Given the description of an element on the screen output the (x, y) to click on. 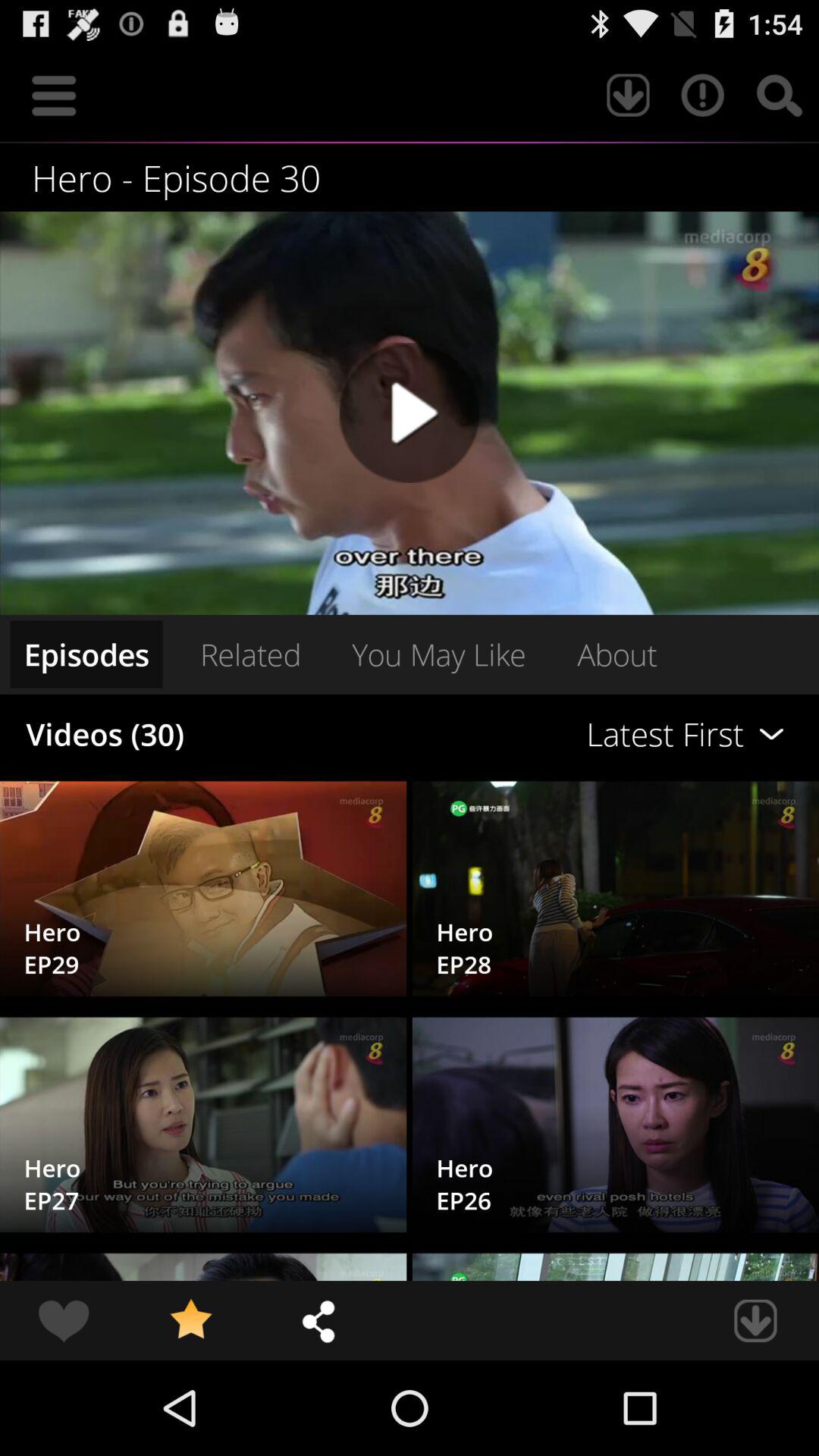
click the item above hero - episode 30 item (779, 95)
